Given the description of an element on the screen output the (x, y) to click on. 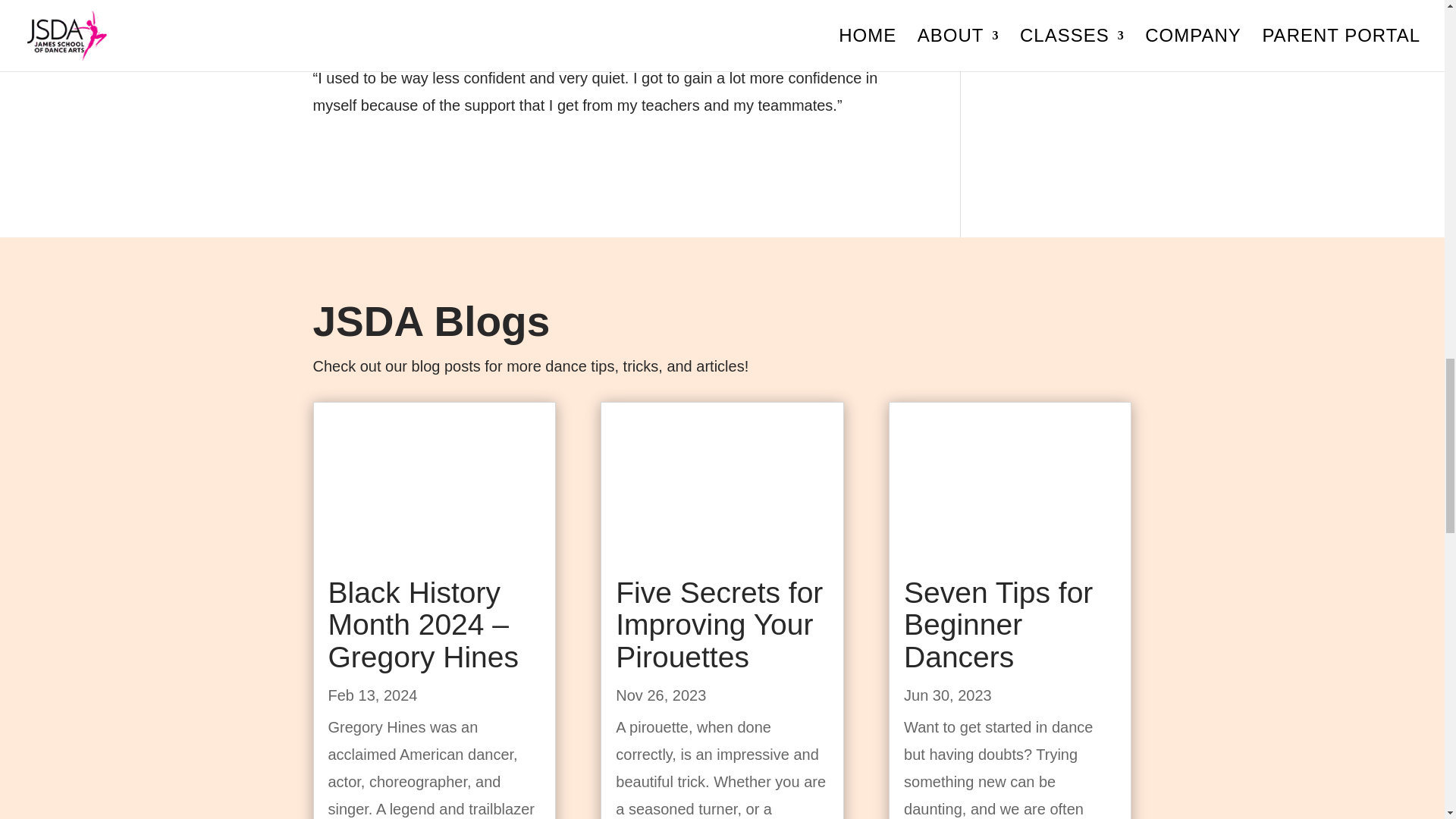
Five Secrets for Improving Your Pirouettes (718, 625)
